Given the description of an element on the screen output the (x, y) to click on. 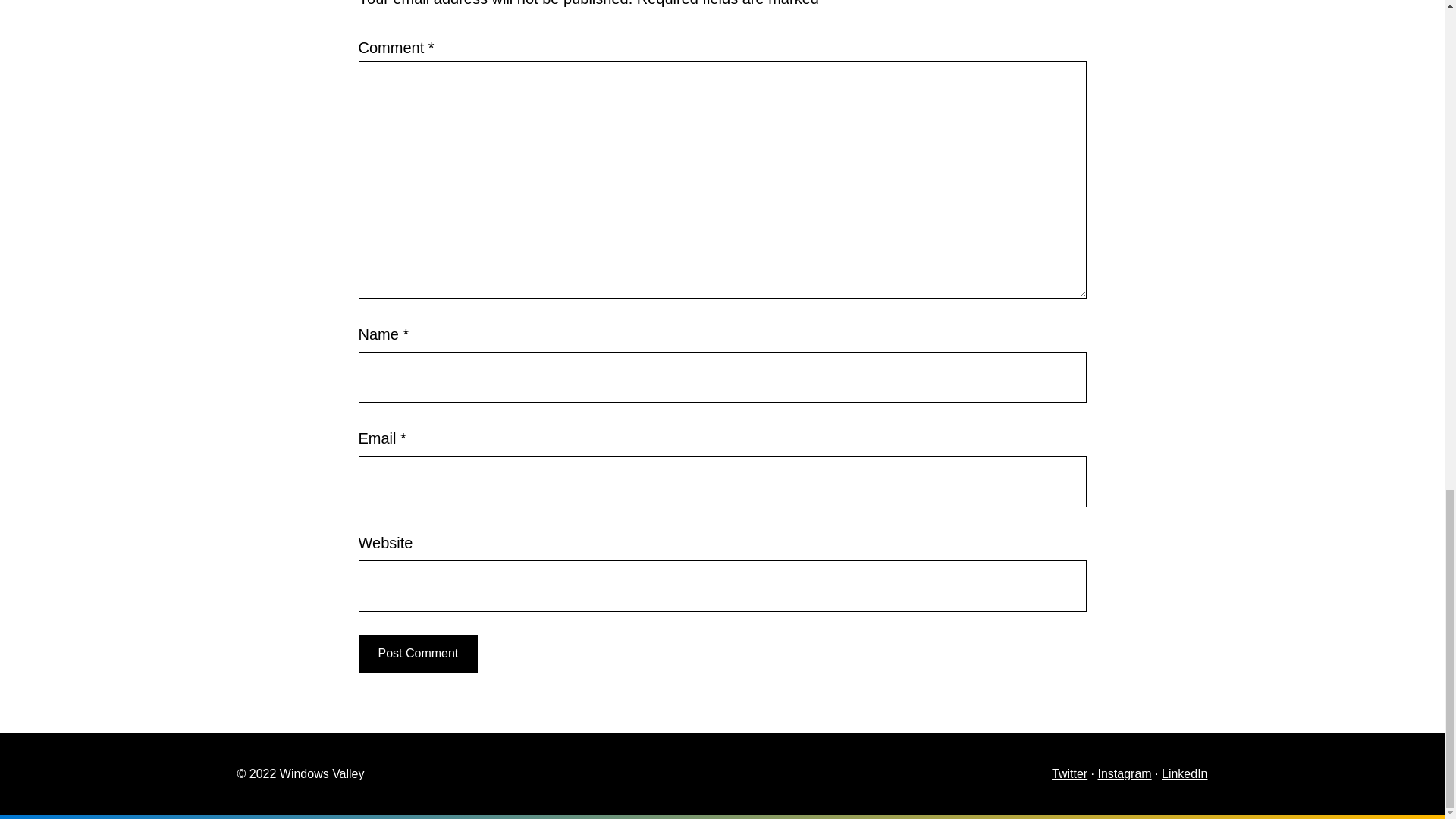
Instagram (1124, 773)
Twitter (1069, 773)
LinkedIn (1184, 773)
Post Comment (417, 653)
Post Comment (417, 653)
